Given the description of an element on the screen output the (x, y) to click on. 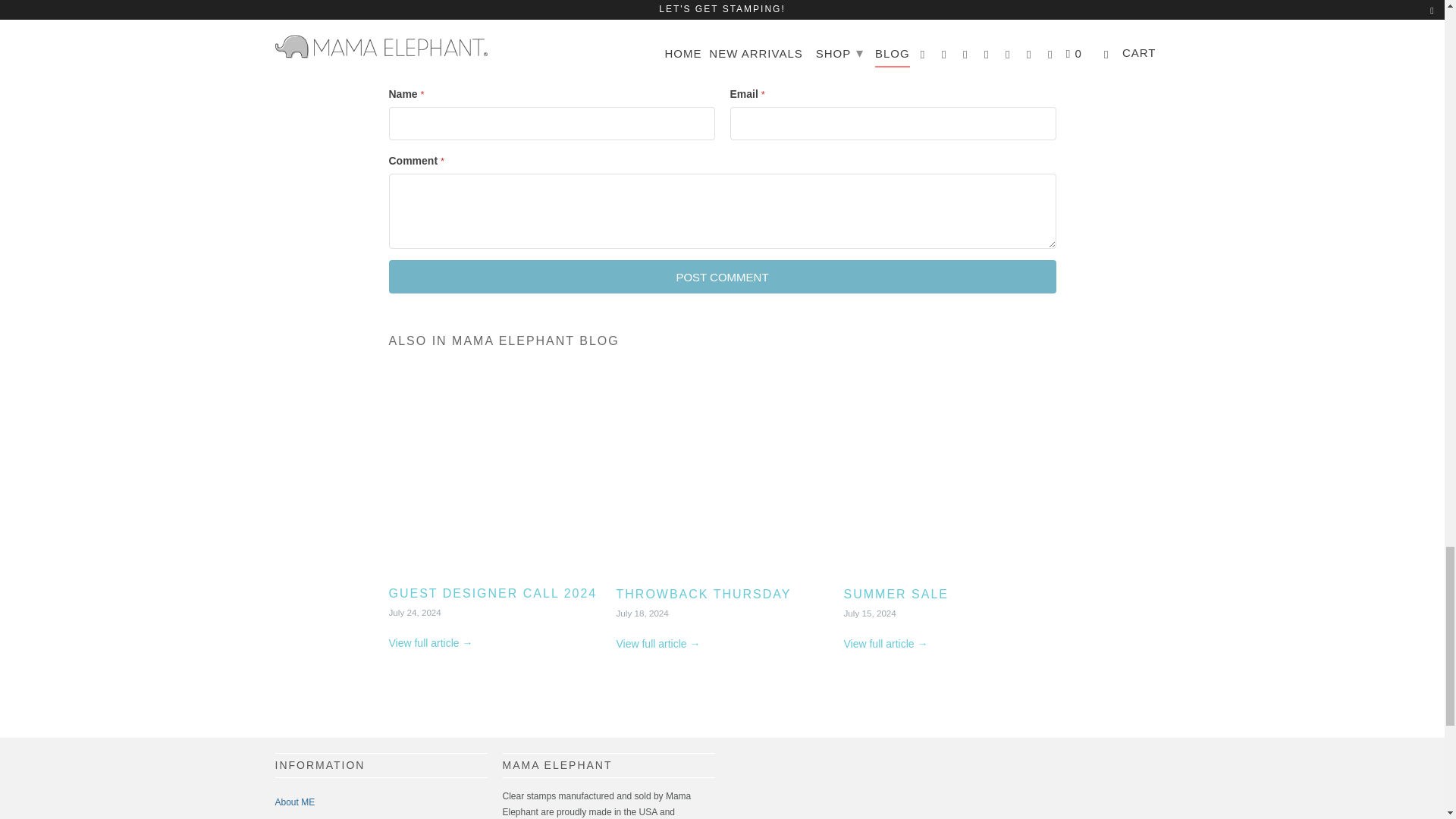
Post comment (721, 276)
Throwback Thursday (702, 594)
Throwback Thursday (657, 644)
Post comment (721, 276)
Throwback Thursday (721, 475)
Guest Designer Call 2024 (492, 593)
Guest Designer Call 2024 (493, 474)
SUMMER SALE (949, 475)
Guest Designer Call 2024 (429, 643)
